Given the description of an element on the screen output the (x, y) to click on. 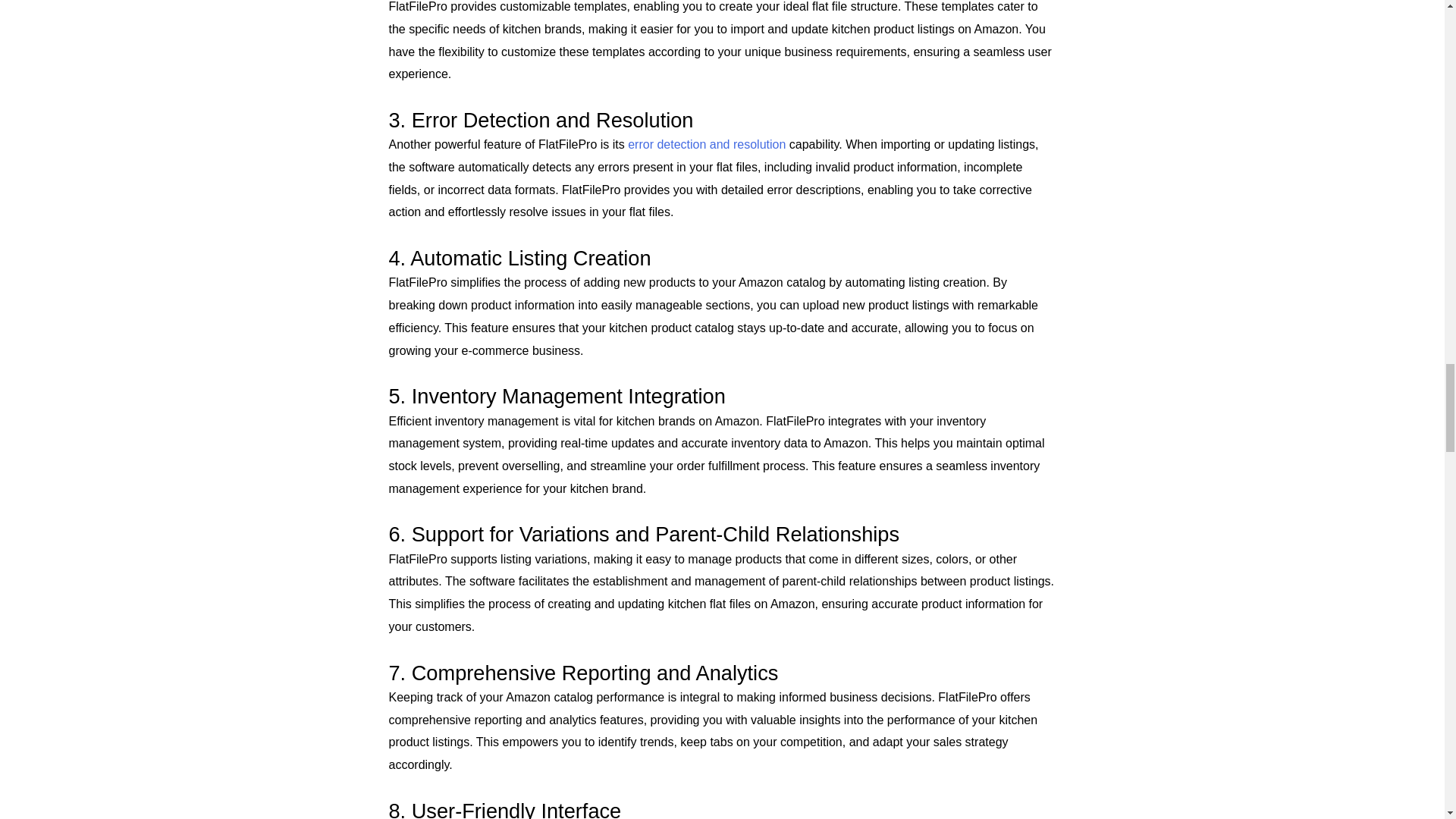
error detection and resolution (706, 144)
